Given the description of an element on the screen output the (x, y) to click on. 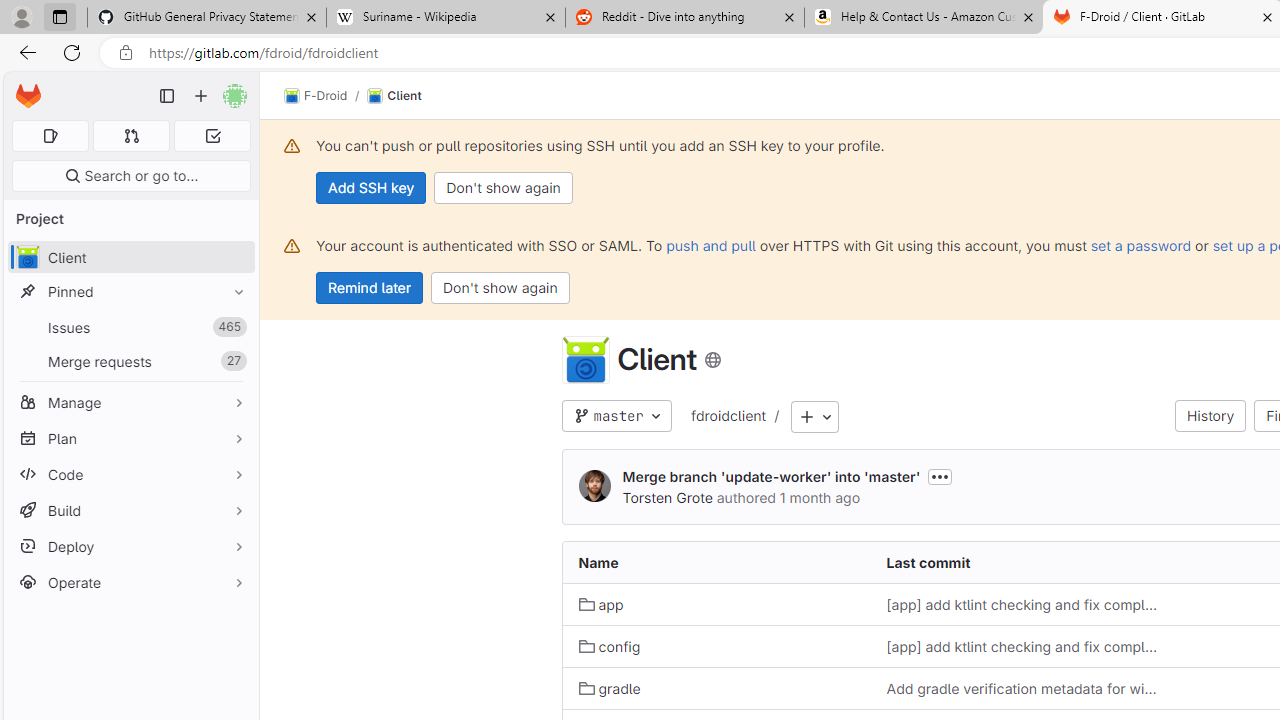
avatar Client (130, 257)
Manage (130, 402)
Toggle commit description (940, 476)
Add gradle verification metadata for windows (1024, 687)
Name (715, 562)
Pinned (130, 291)
fdroidclient (727, 417)
gradle (609, 688)
master (616, 416)
Build (130, 510)
set a password (1140, 245)
Torsten Grote's avatar (594, 486)
Plan (130, 438)
Help & Contact Us - Amazon Customer Service (924, 17)
Class: s16 gl-alert-icon gl-alert-icon-no-title (291, 246)
